Given the description of an element on the screen output the (x, y) to click on. 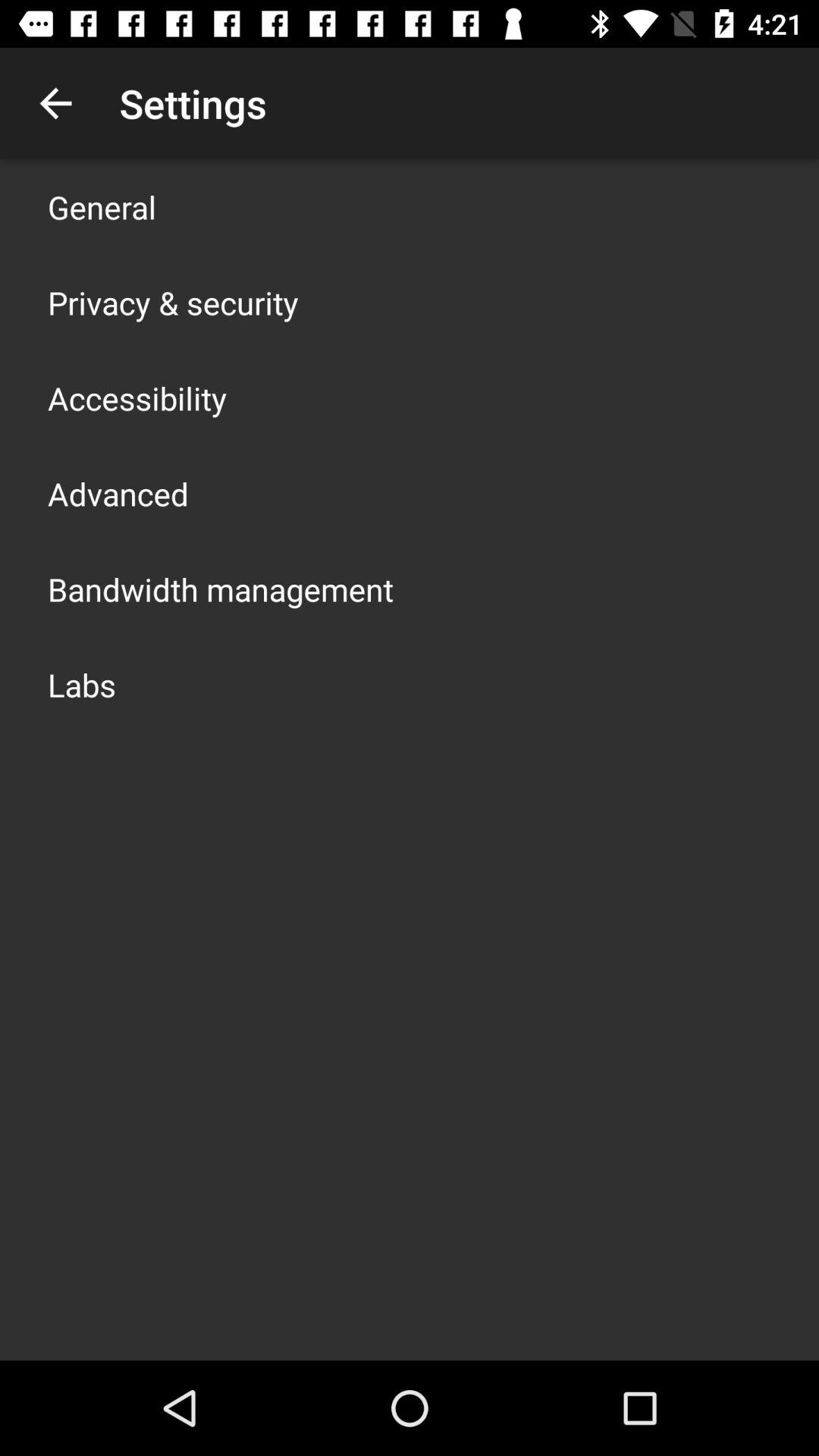
open app next to the settings app (55, 103)
